Given the description of an element on the screen output the (x, y) to click on. 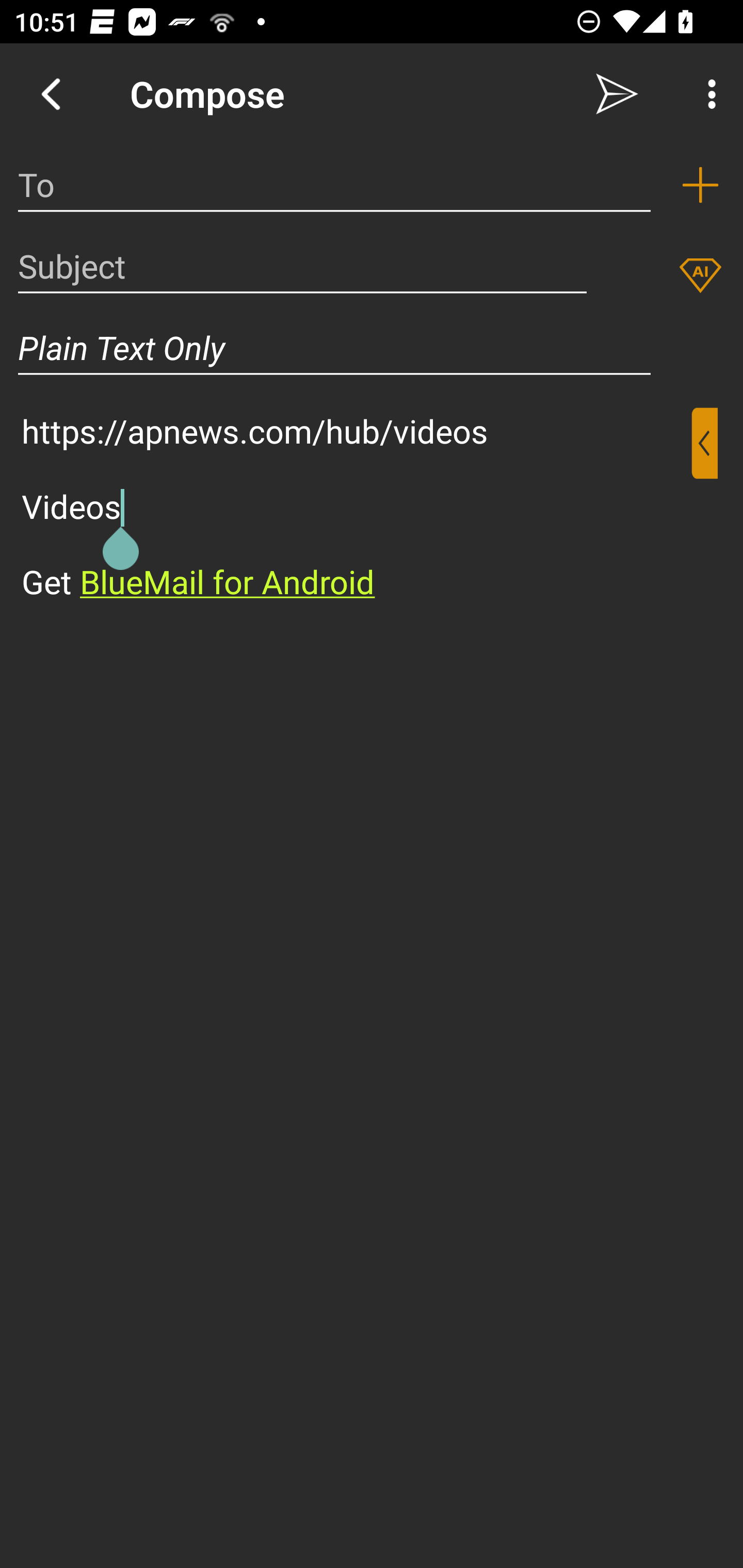
Navigate up (50, 93)
Send (616, 93)
More Options (706, 93)
To (334, 184)
Add recipient (To) (699, 184)
Subject (302, 266)
Plain Text Only (334, 347)
